Given the description of an element on the screen output the (x, y) to click on. 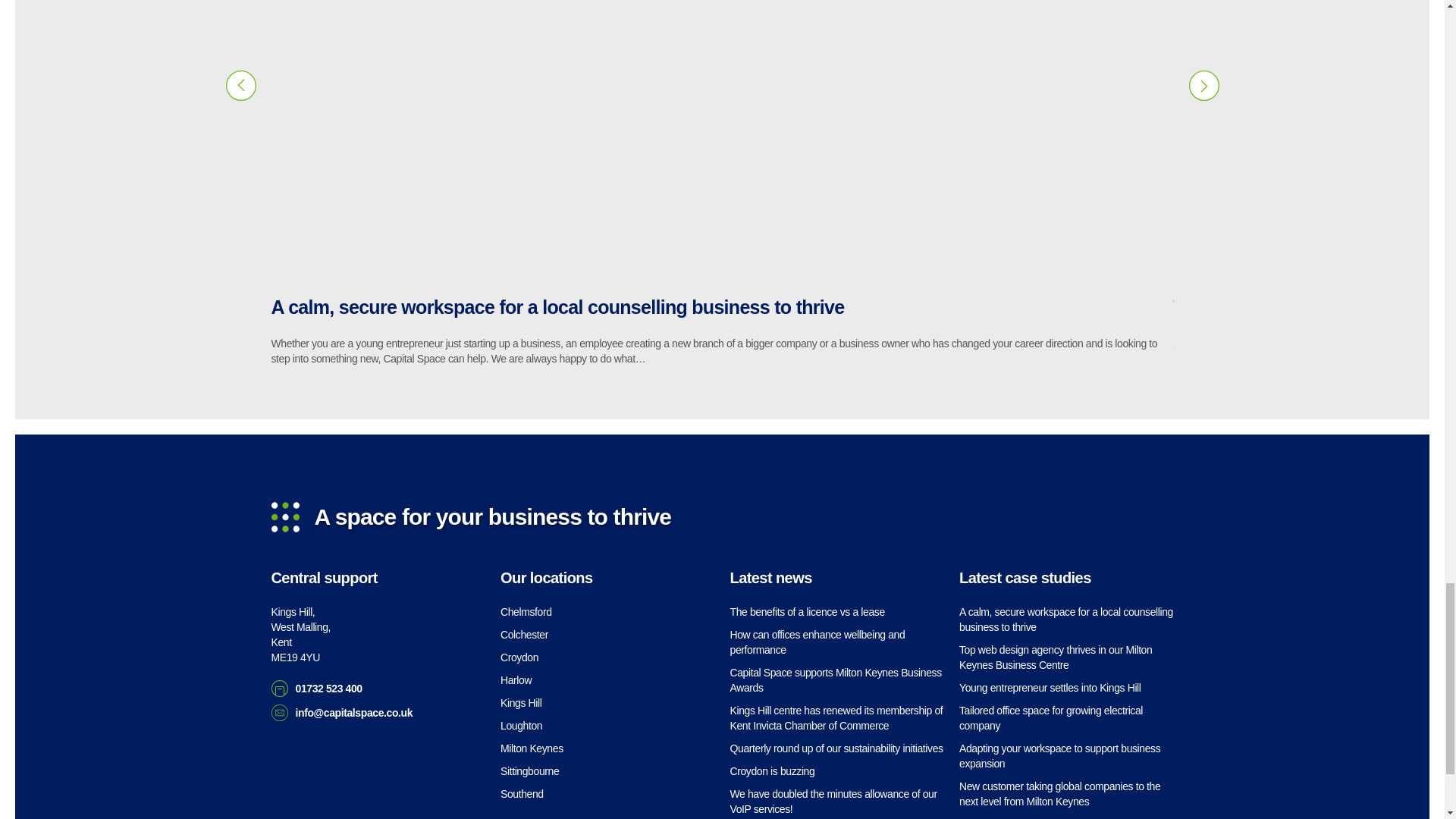
01732 523 400 (300, 634)
